Given the description of an element on the screen output the (x, y) to click on. 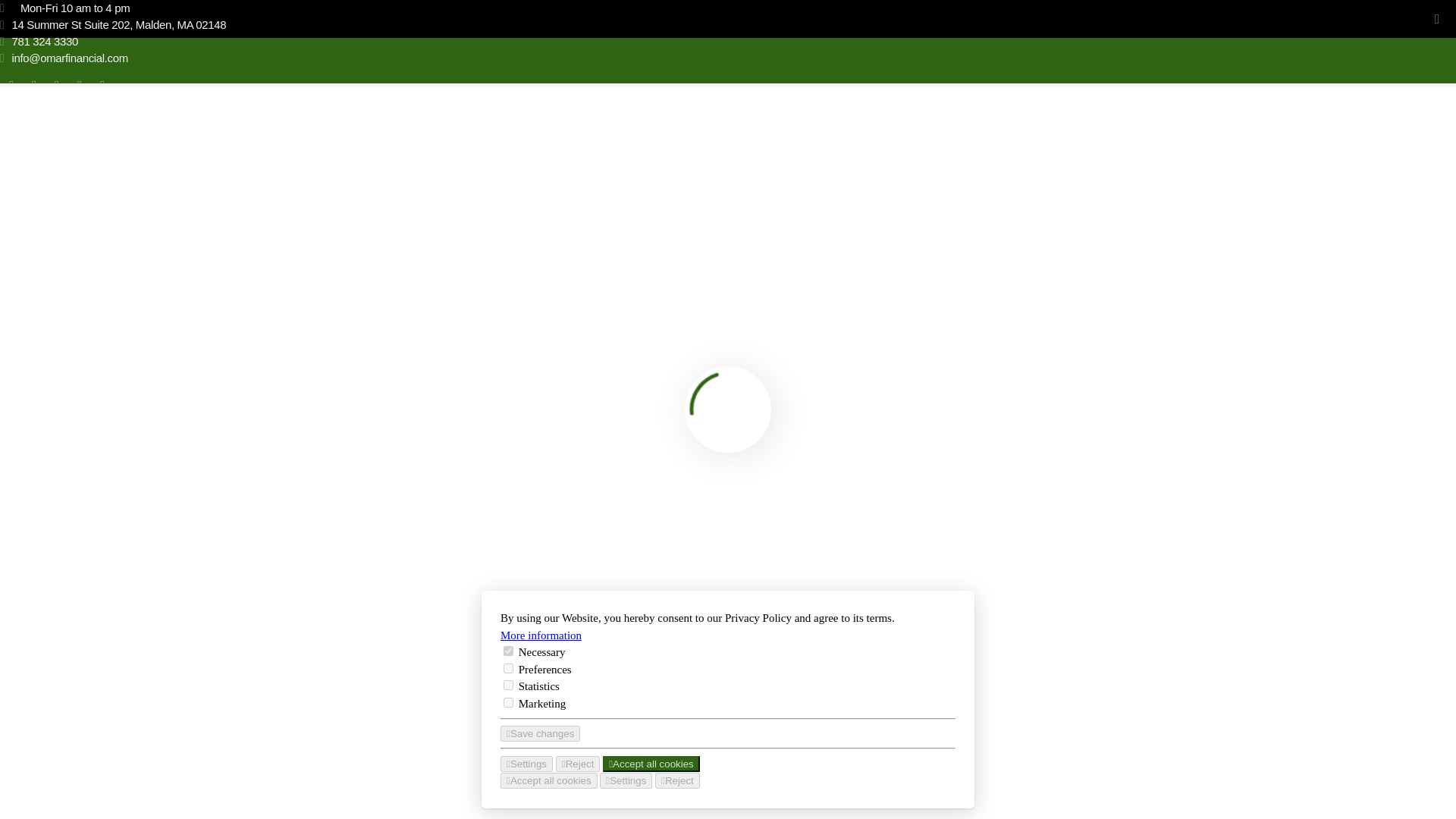
Read more (37, 589)
Child tax credit (43, 510)
More information (540, 579)
Who can I claim as a dependent? (185, 478)
on (508, 628)
Dependent (111, 510)
Bein Boston (182, 770)
on (508, 612)
My Blog (34, 119)
Family (159, 510)
on (508, 595)
on (508, 646)
